Given the description of an element on the screen output the (x, y) to click on. 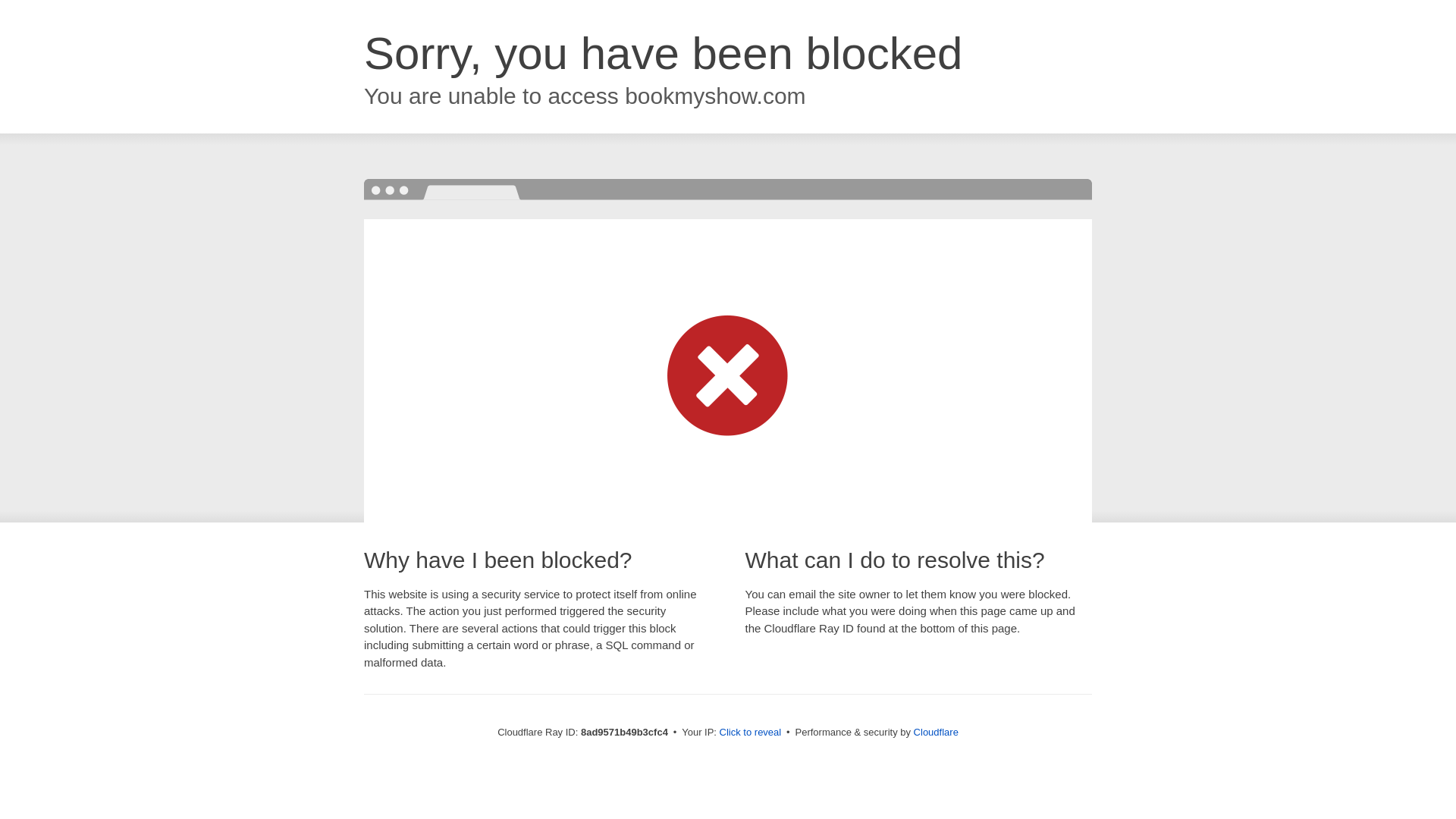
Click to reveal (750, 732)
Cloudflare (936, 731)
